Given the description of an element on the screen output the (x, y) to click on. 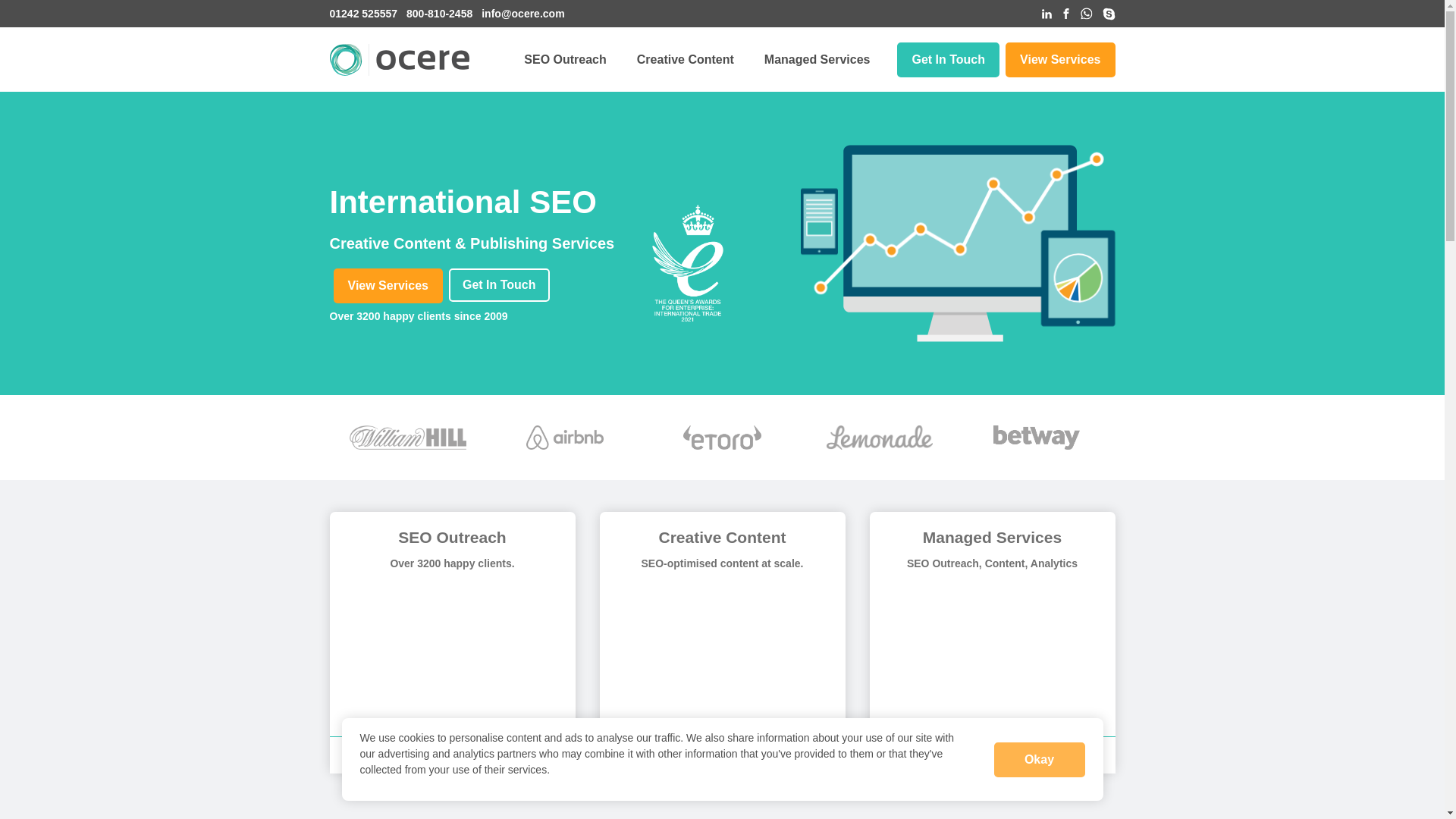
Managed Services (817, 59)
Get In Touch (947, 59)
Get In Touch (499, 285)
Creative Content (684, 59)
View Services (1060, 59)
View Services (387, 285)
800-810-2458 (438, 13)
